Given the description of an element on the screen output the (x, y) to click on. 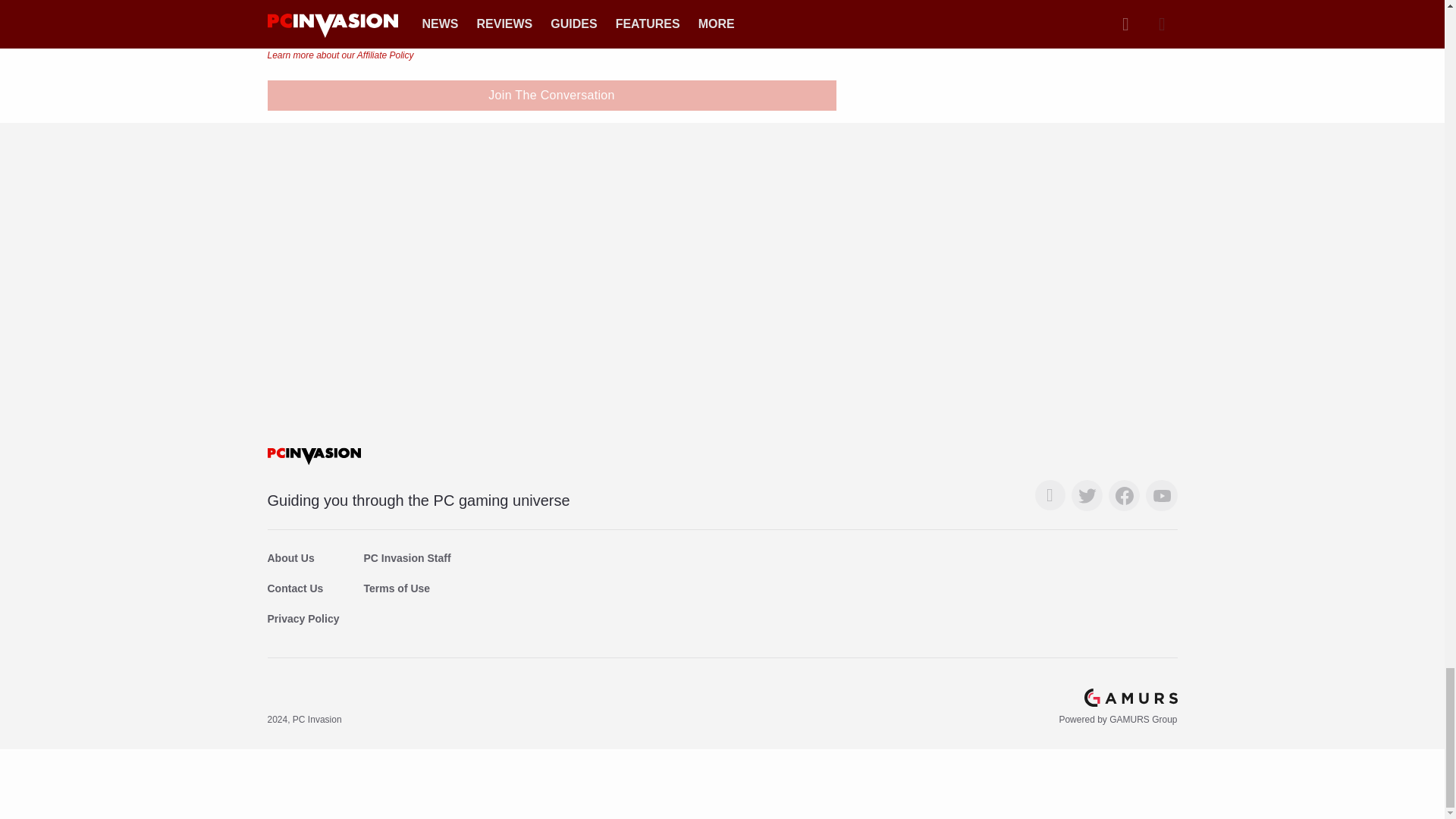
Join The Conversation (550, 95)
